Given the description of an element on the screen output the (x, y) to click on. 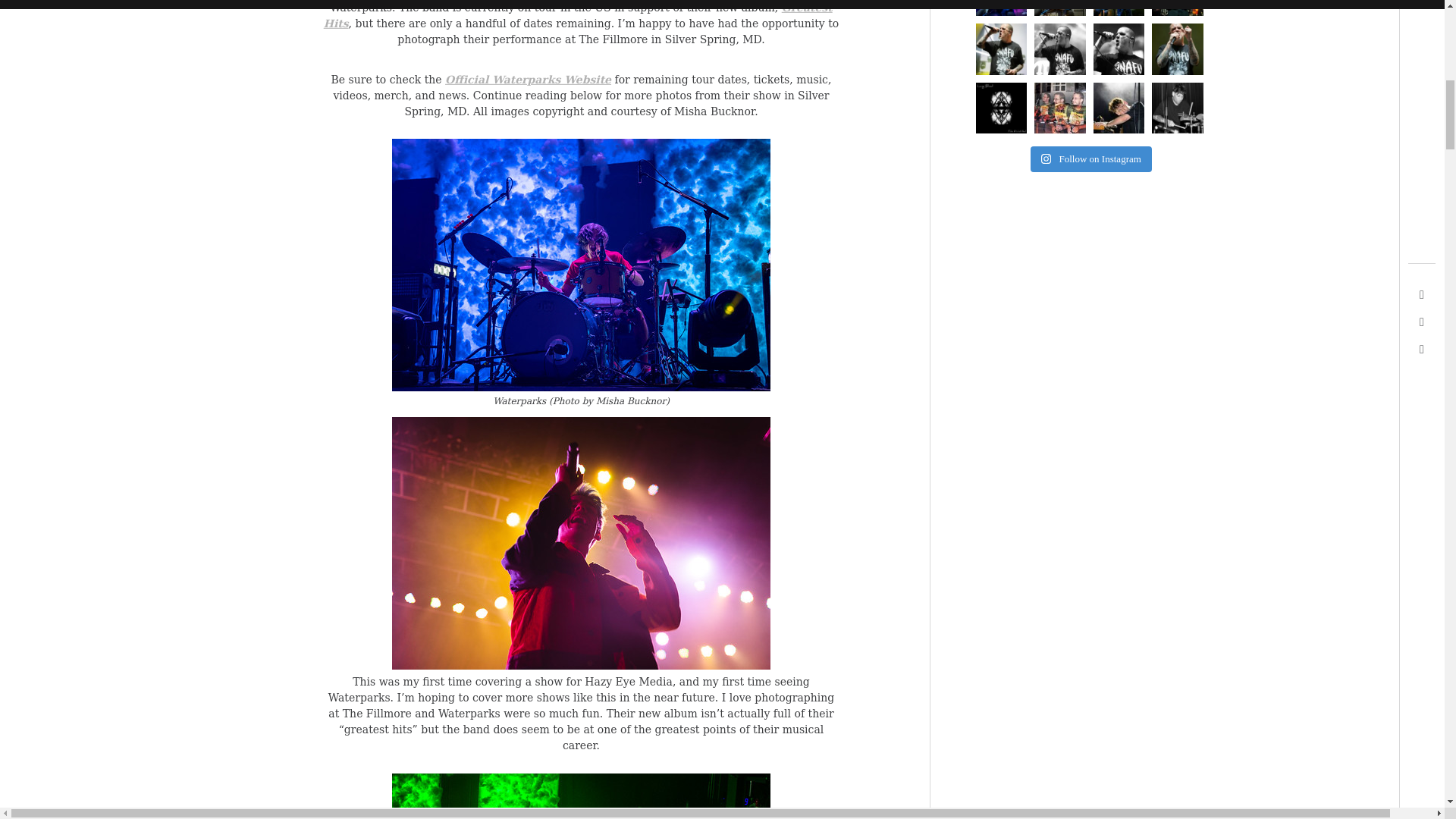
Greatest Hits (577, 15)
Official Waterparks Website (528, 78)
